Given the description of an element on the screen output the (x, y) to click on. 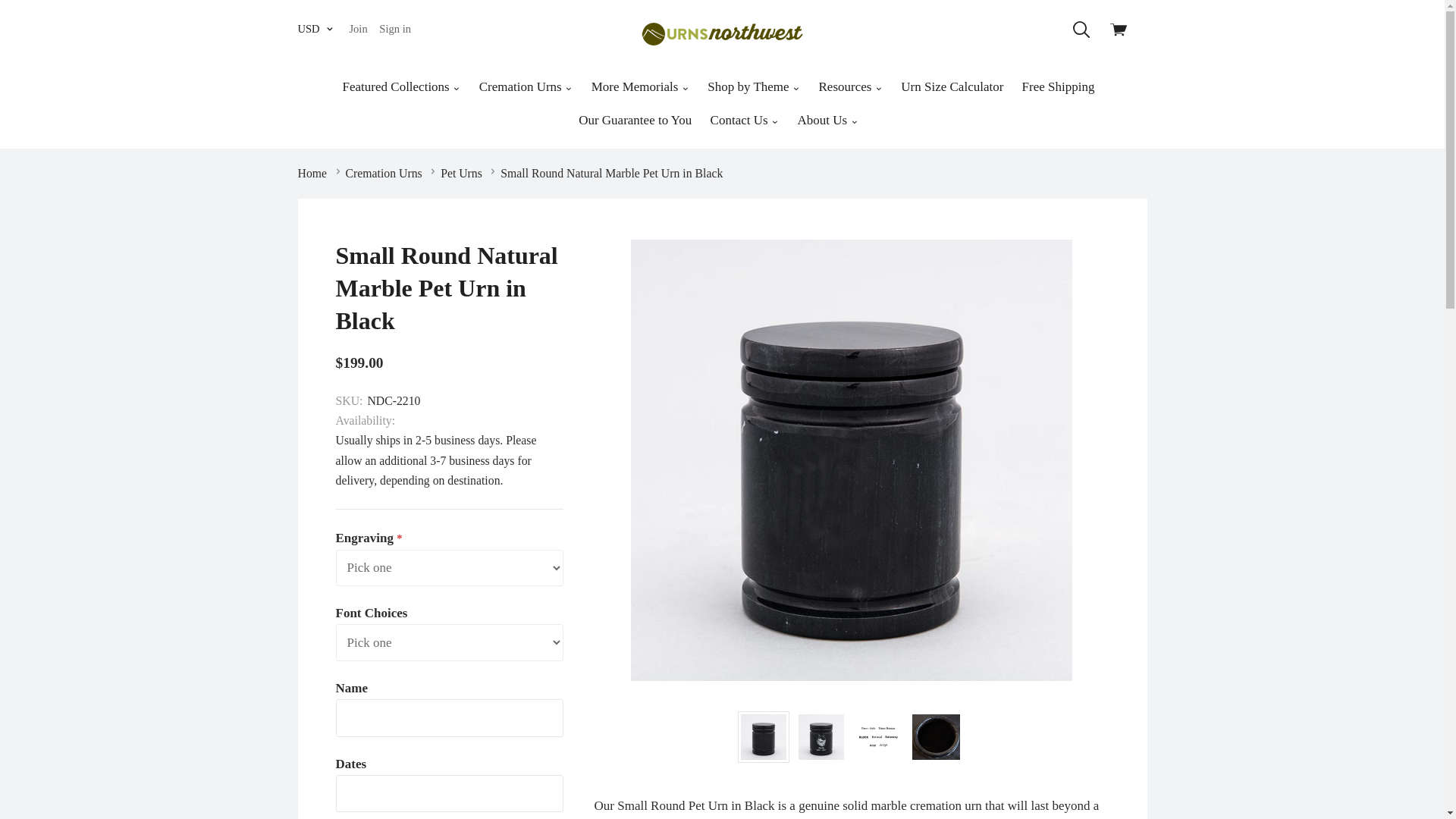
View cart (1123, 32)
View cart (1123, 32)
Join (357, 28)
Cremation Urns (526, 87)
Featured Collections (401, 87)
Sign in (394, 28)
